Given the description of an element on the screen output the (x, y) to click on. 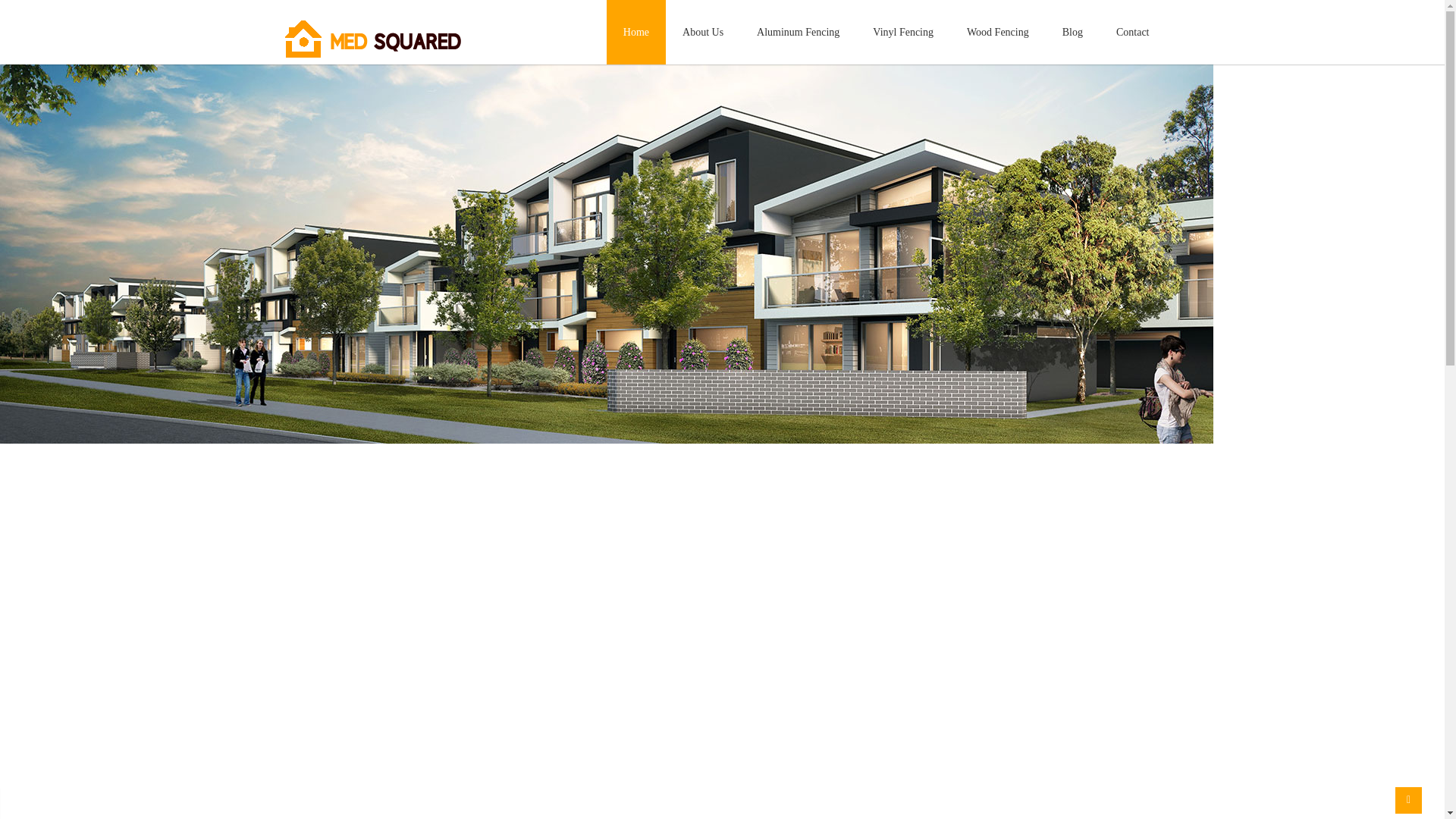
Vinyl Fencing Element type: text (903, 32)
Wood Fencing Element type: text (997, 32)
About Us Element type: text (702, 32)
Back To Top Element type: hover (1408, 800)
Blog Element type: text (1072, 32)
Home Element type: text (635, 32)
Contact Element type: text (1132, 32)
Med Squared Element type: hover (373, 59)
Aluminum Fencing Element type: text (798, 32)
